Given the description of an element on the screen output the (x, y) to click on. 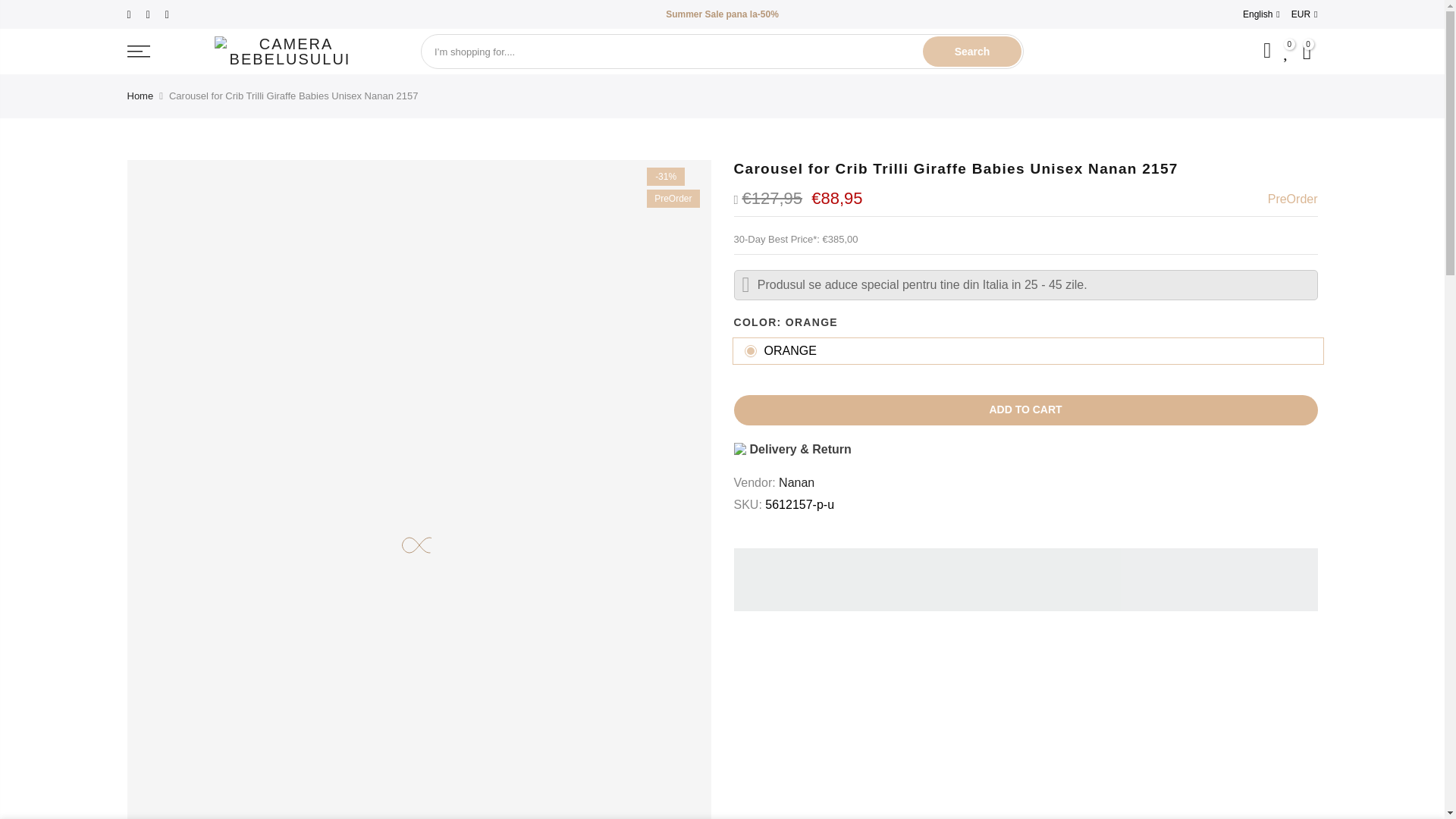
Search (972, 51)
Home (141, 96)
ADD TO CART (1025, 409)
Nanan (795, 481)
Nanan (795, 481)
